Given the description of an element on the screen output the (x, y) to click on. 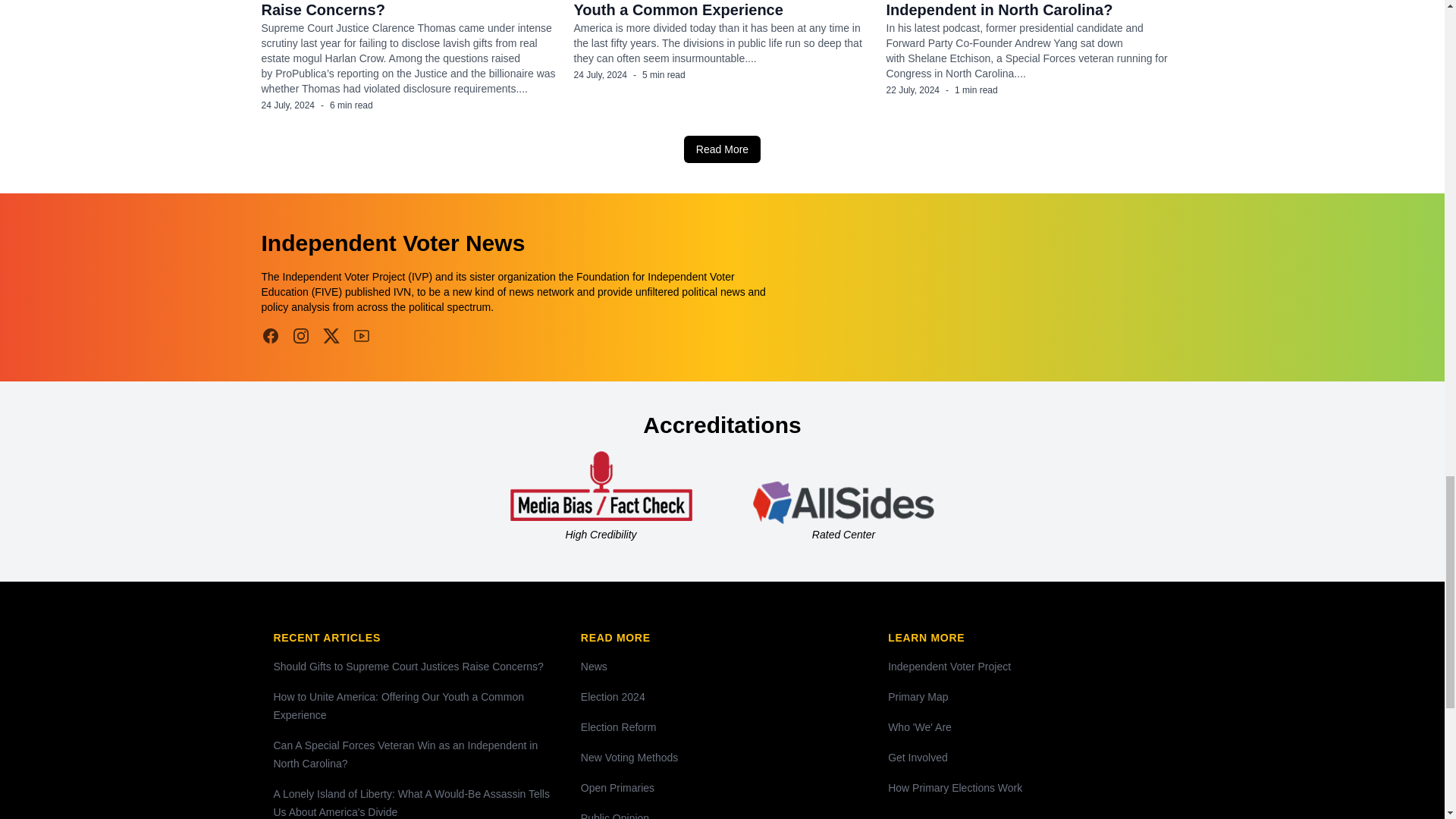
How to Unite America: Offering Our Youth a Common Experience (700, 9)
Should Gifts to Supreme Court Justices Raise Concerns? (404, 9)
Read More (722, 148)
